Given the description of an element on the screen output the (x, y) to click on. 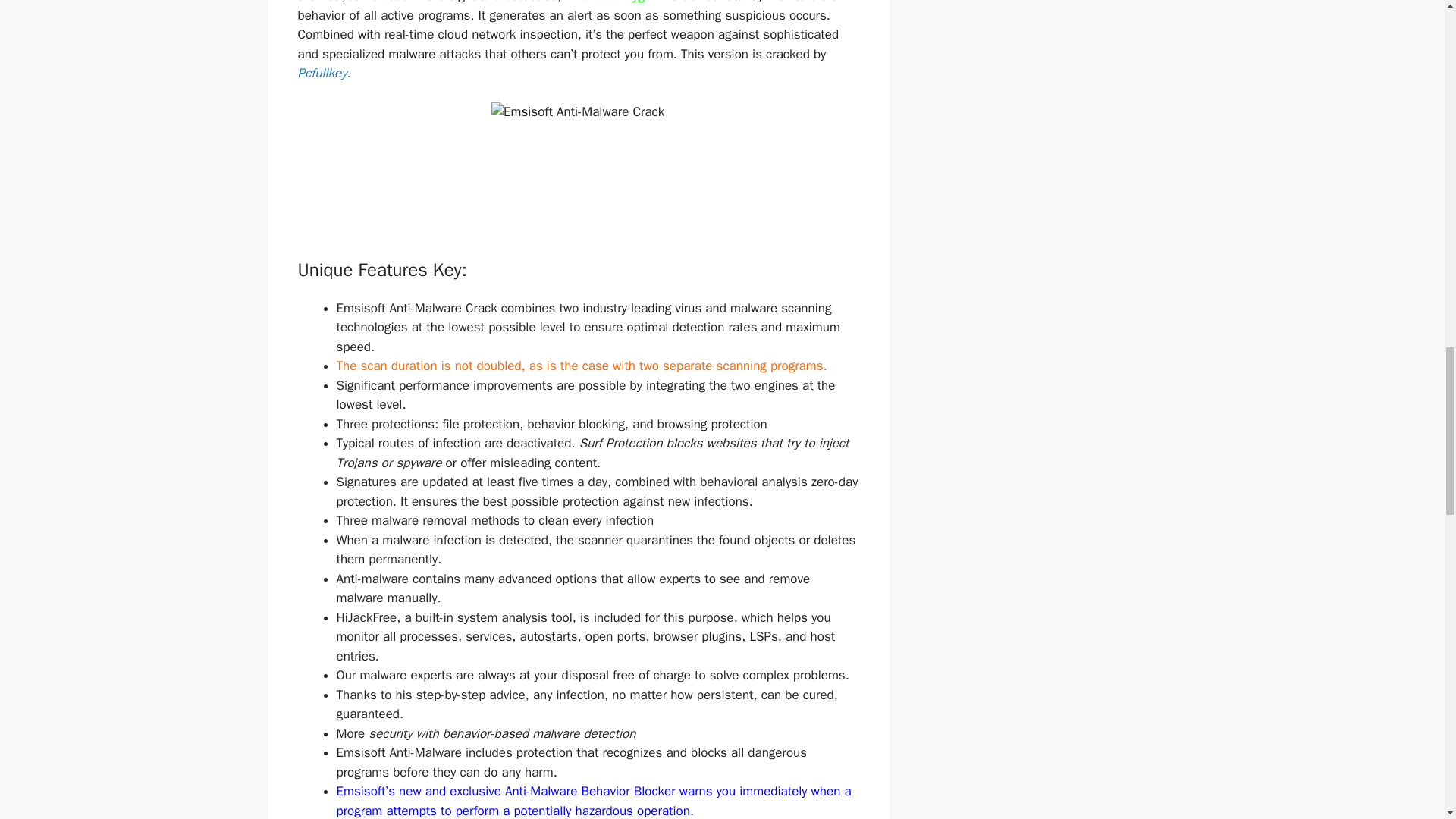
Pcfullkey. (323, 73)
